Given the description of an element on the screen output the (x, y) to click on. 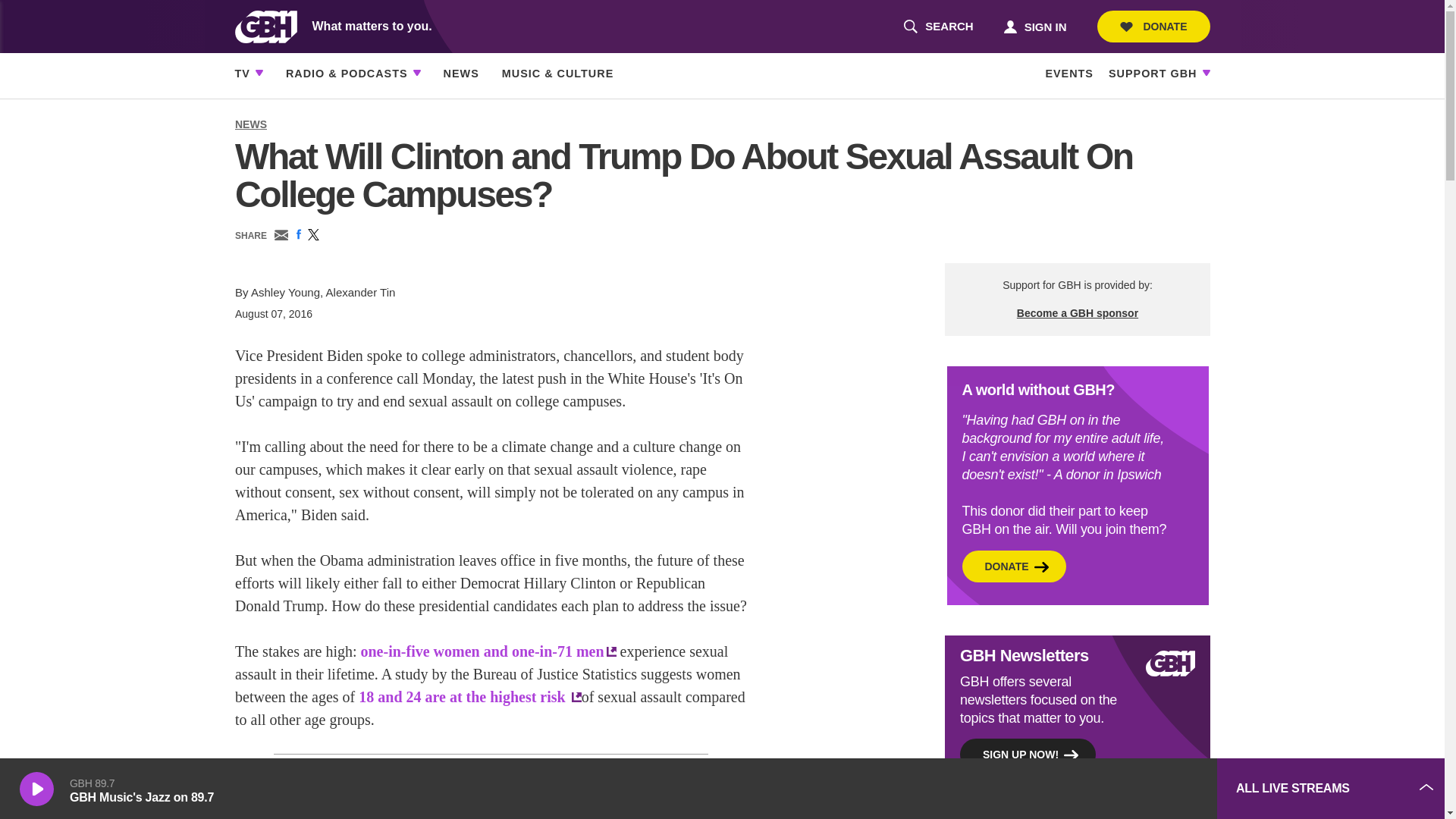
DONATE (1153, 26)
TV (242, 73)
SIGN IN (1034, 25)
Show Search (937, 26)
